Given the description of an element on the screen output the (x, y) to click on. 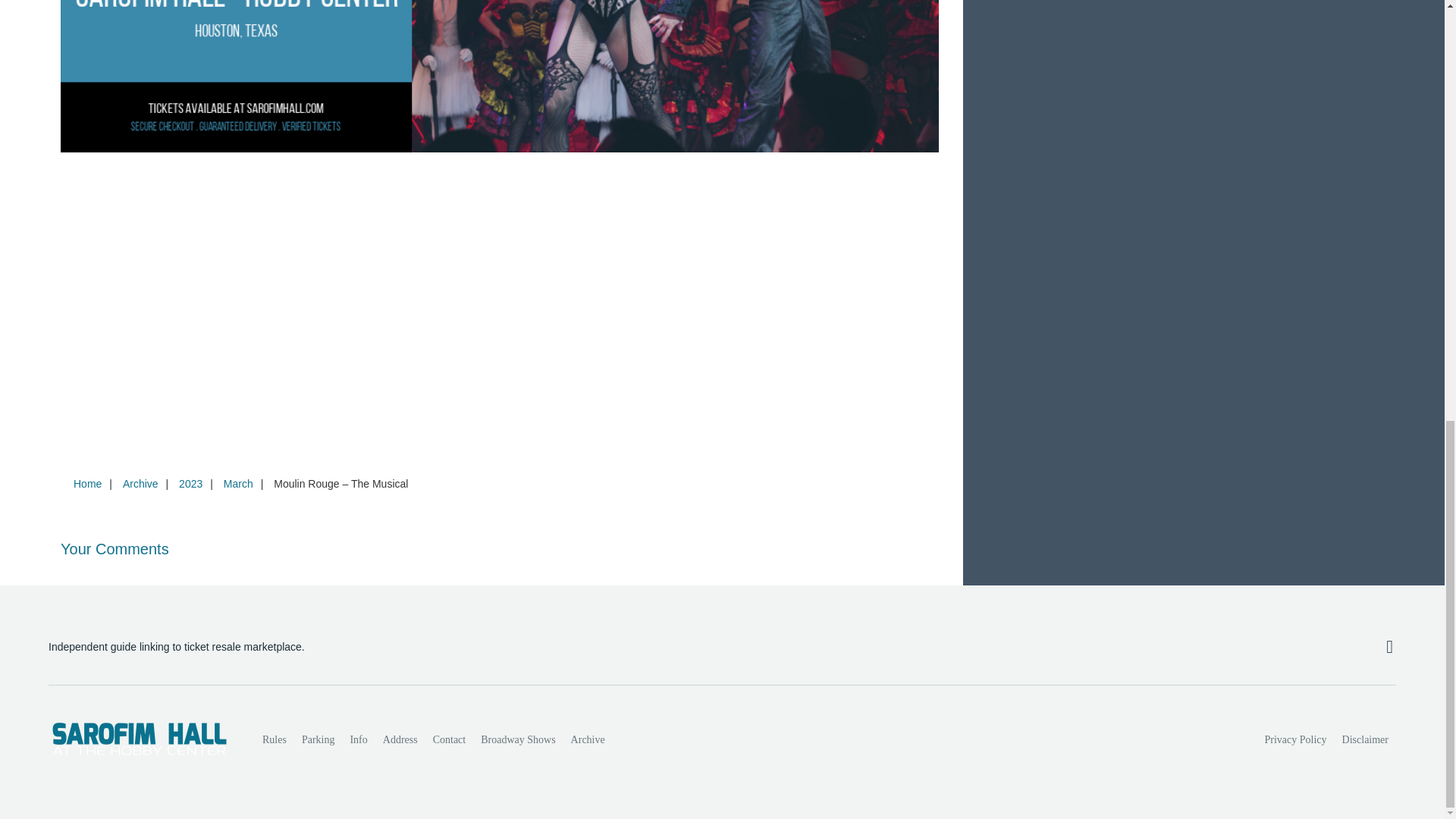
Parking (318, 739)
Info (358, 739)
Archive (140, 483)
Privacy Policy (1296, 739)
Broadway Shows (517, 739)
2023 (190, 483)
Contact (449, 739)
March (237, 483)
Archive (587, 739)
